Given the description of an element on the screen output the (x, y) to click on. 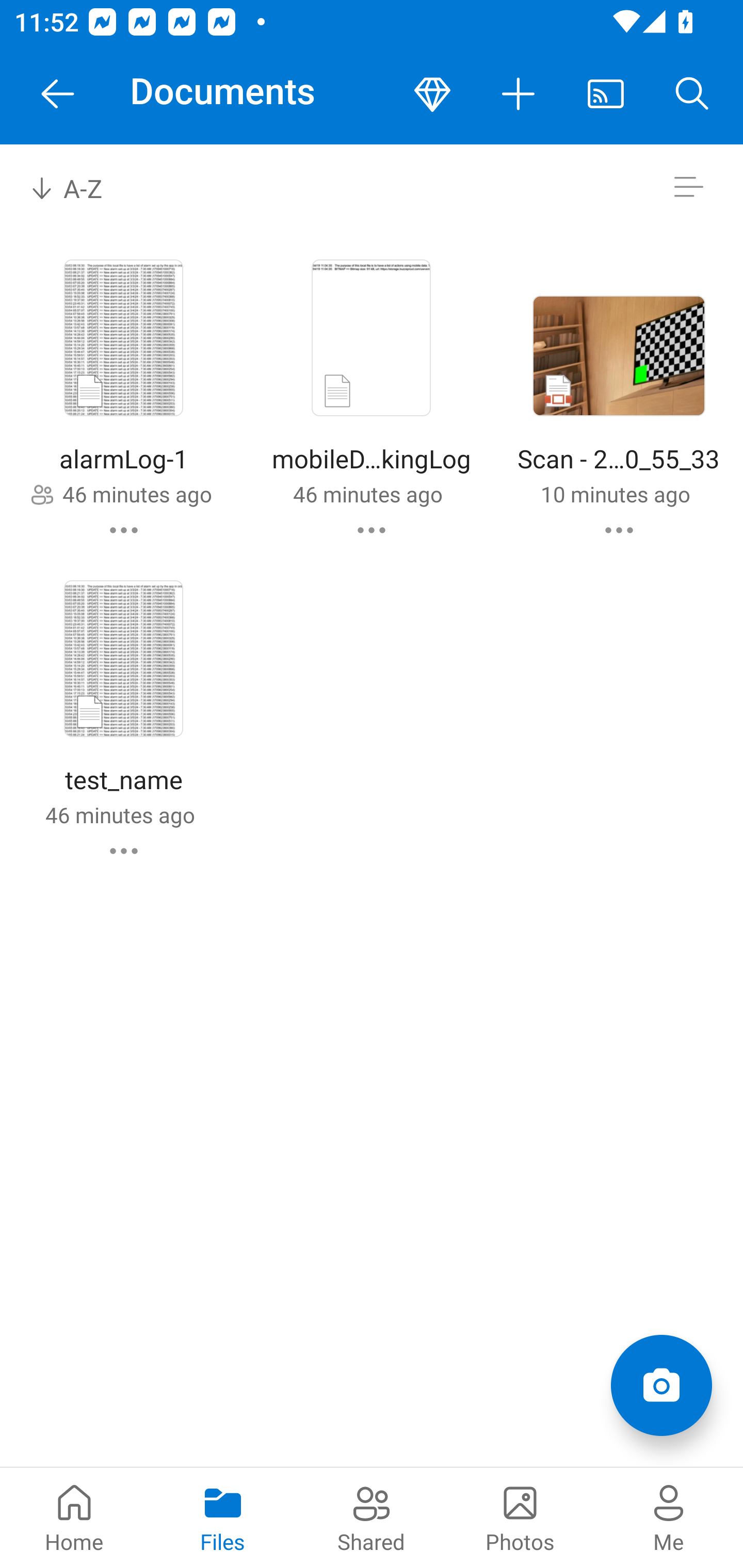
Navigate Up (57, 93)
Cast. Disconnected (605, 93)
Premium button (432, 93)
More actions button (518, 93)
Search button (692, 93)
A-Z Sort by combo box, sort by name, A to Z (80, 187)
Switch to list view (688, 187)
46 minutes ago (136, 493)
46 minutes ago (367, 493)
10 minutes ago (615, 493)
alarmLog-1 commands (123, 529)
mobileDataTrackingLog commands (371, 529)
Scan - 2024-03-28 10_55_33 commands (618, 529)
46 minutes ago (119, 814)
test_name commands (123, 851)
Add items Scan (660, 1385)
Home pivot Home (74, 1517)
Shared pivot Shared (371, 1517)
Photos pivot Photos (519, 1517)
Me pivot Me (668, 1517)
